Given the description of an element on the screen output the (x, y) to click on. 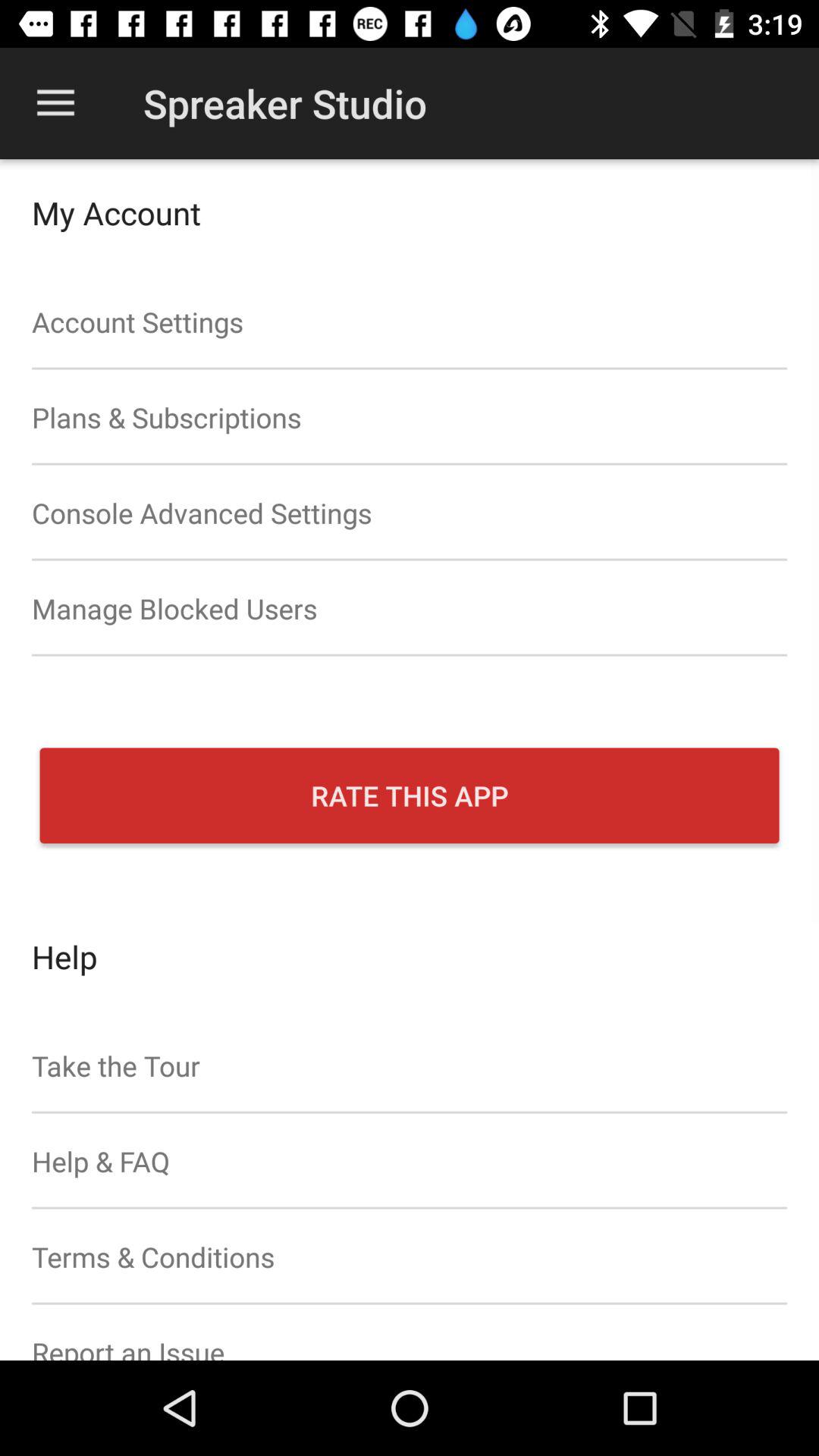
open the item above manage blocked users item (409, 512)
